Given the description of an element on the screen output the (x, y) to click on. 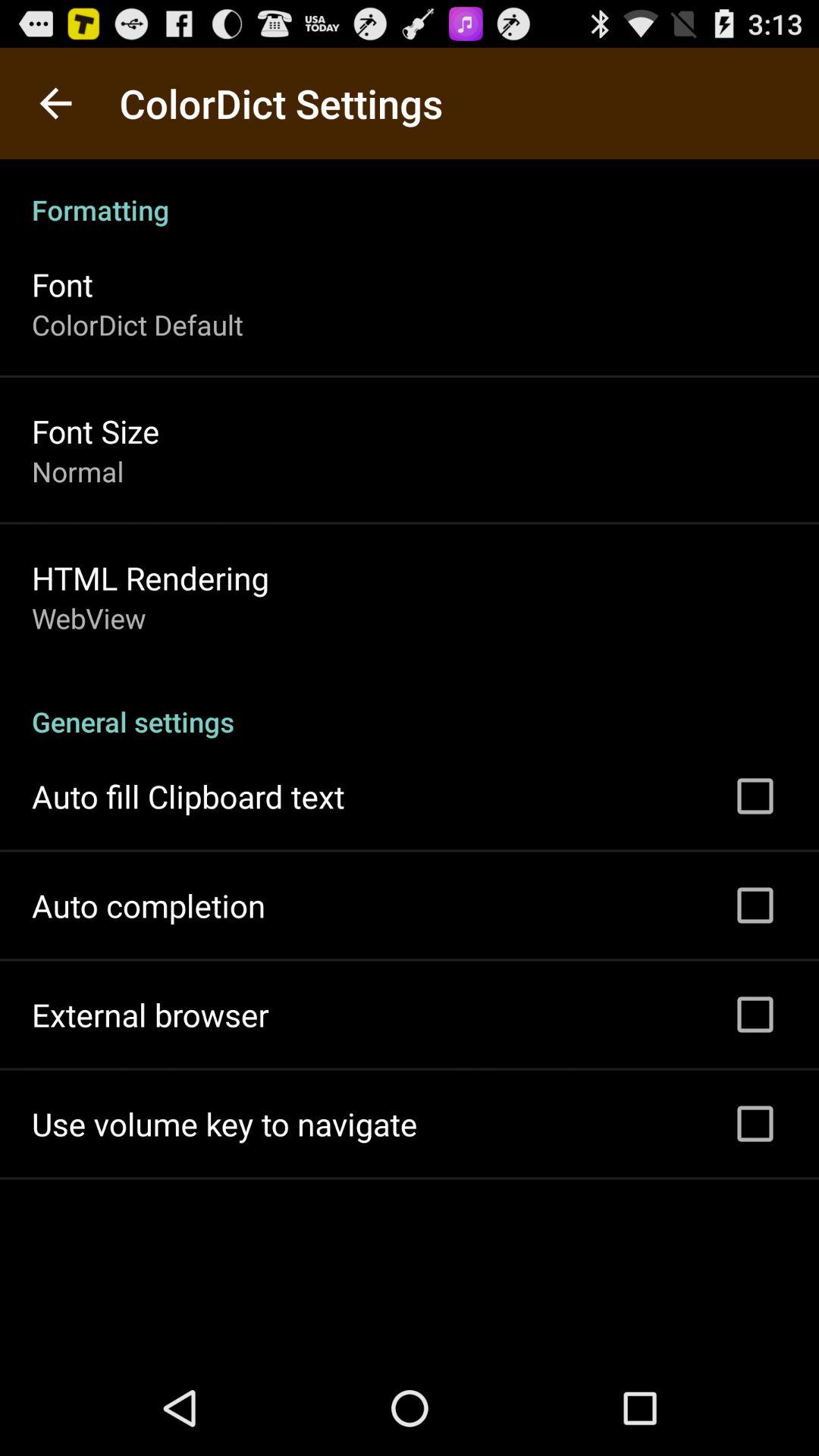
turn on the icon below normal item (150, 577)
